Given the description of an element on the screen output the (x, y) to click on. 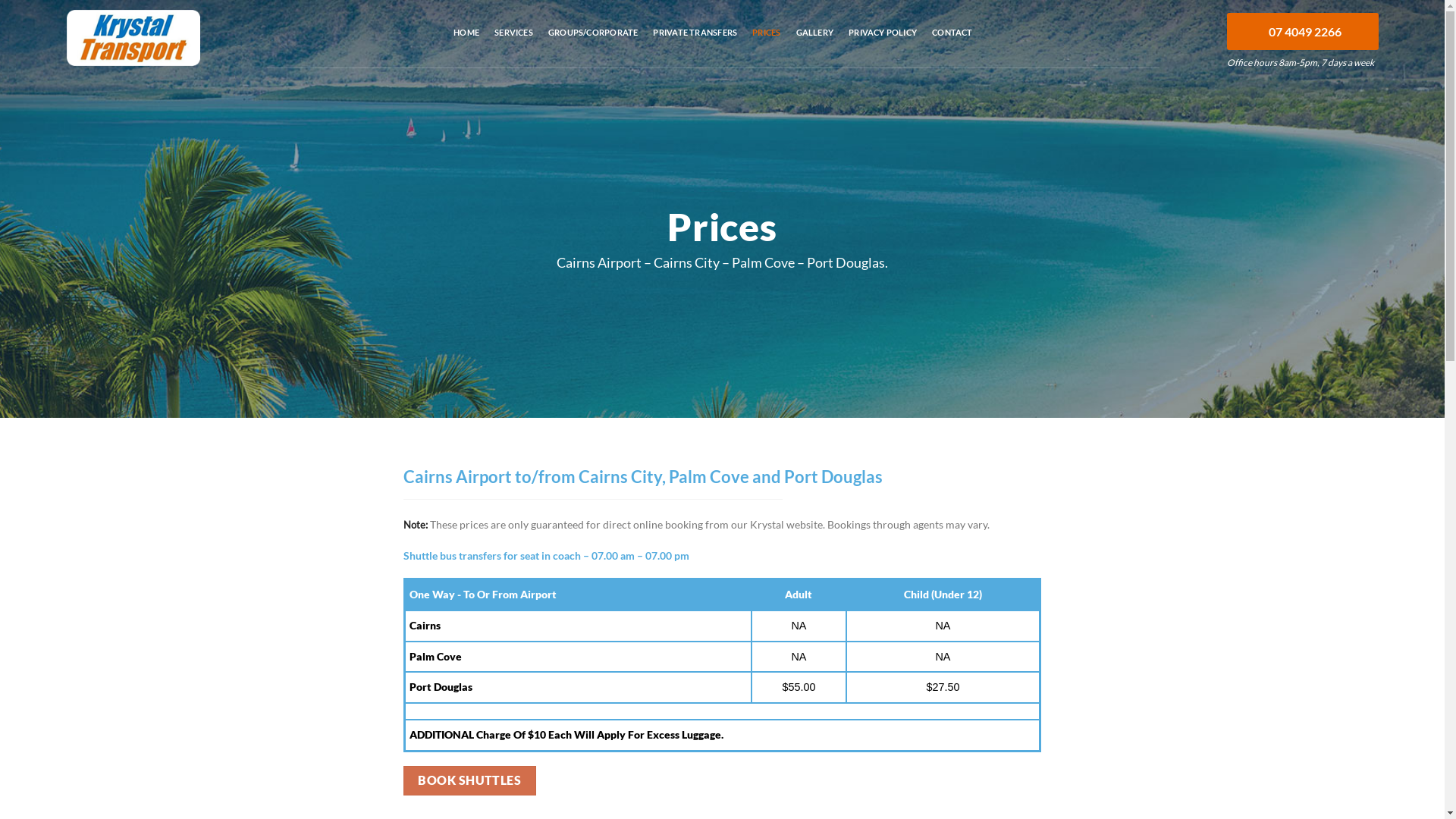
PRIVACY POLICY Element type: text (882, 42)
CONTACT Element type: text (952, 42)
GROUPS/CORPORATE Element type: text (593, 42)
PRICES Element type: text (765, 42)
07 4049 2266 Element type: text (1302, 31)
HOME Element type: text (466, 42)
BOOK SHUTTLES Element type: text (469, 780)
SERVICES Element type: text (513, 42)
GALLERY Element type: text (814, 42)
Skip to content Element type: text (0, 0)
PRIVATE TRANSFERS Element type: text (694, 42)
